Given the description of an element on the screen output the (x, y) to click on. 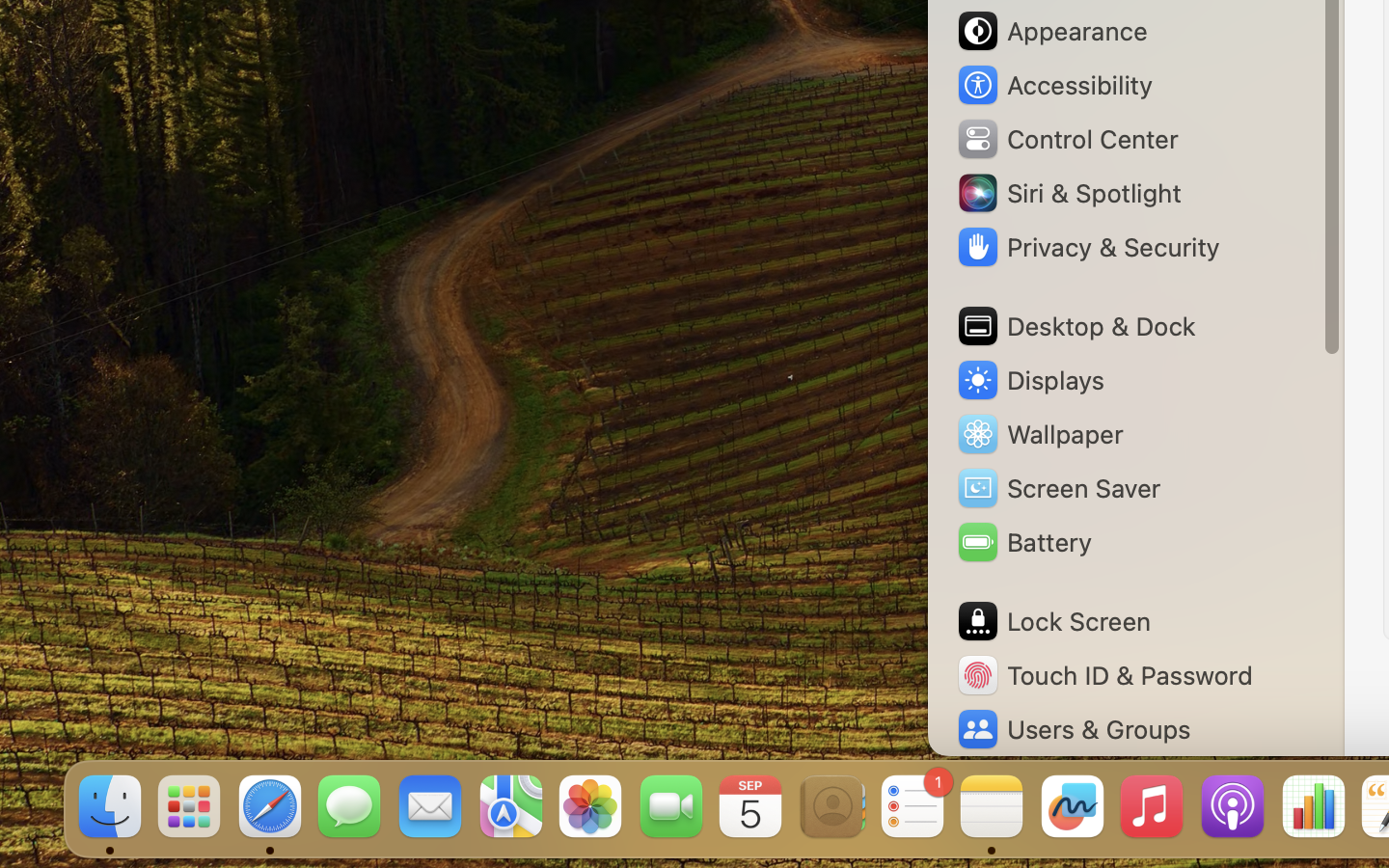
Privacy & Security Element type: AXStaticText (1086, 246)
Users & Groups Element type: AXStaticText (1072, 728)
Control Center Element type: AXStaticText (1066, 138)
